Given the description of an element on the screen output the (x, y) to click on. 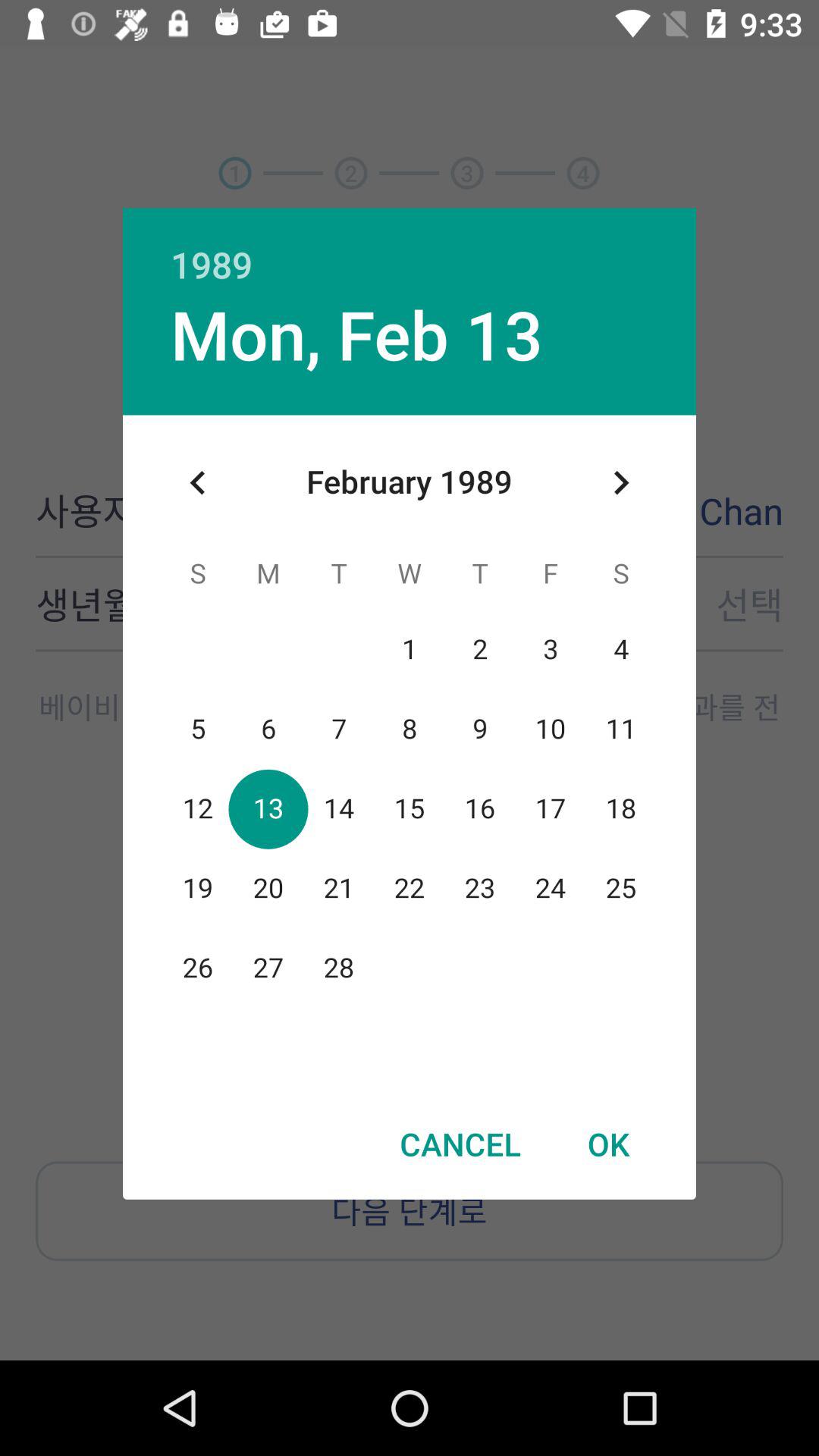
jump to the ok item (608, 1143)
